Given the description of an element on the screen output the (x, y) to click on. 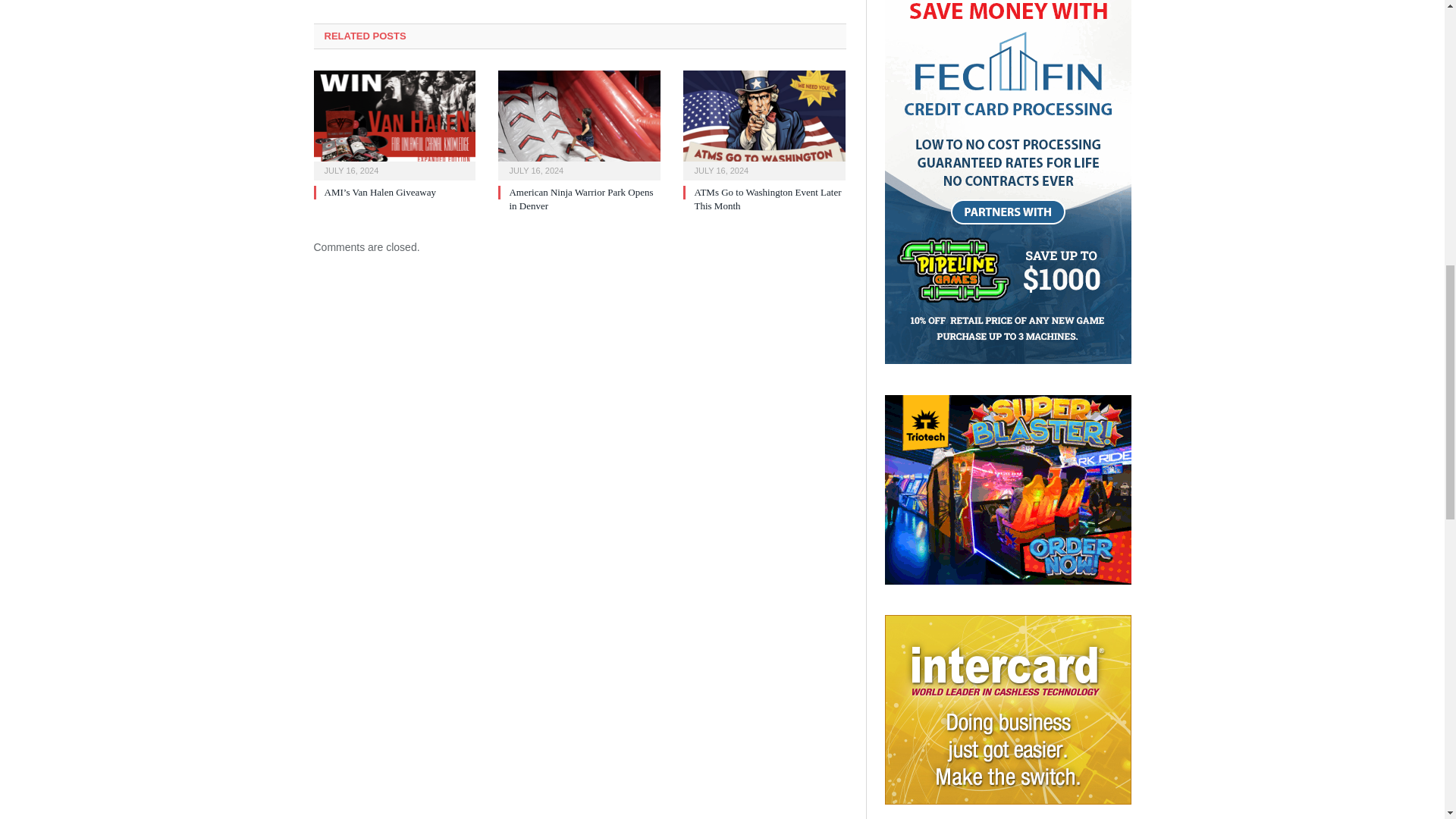
American Ninja Warrior Park Opens in Denver (579, 123)
